Given the description of an element on the screen output the (x, y) to click on. 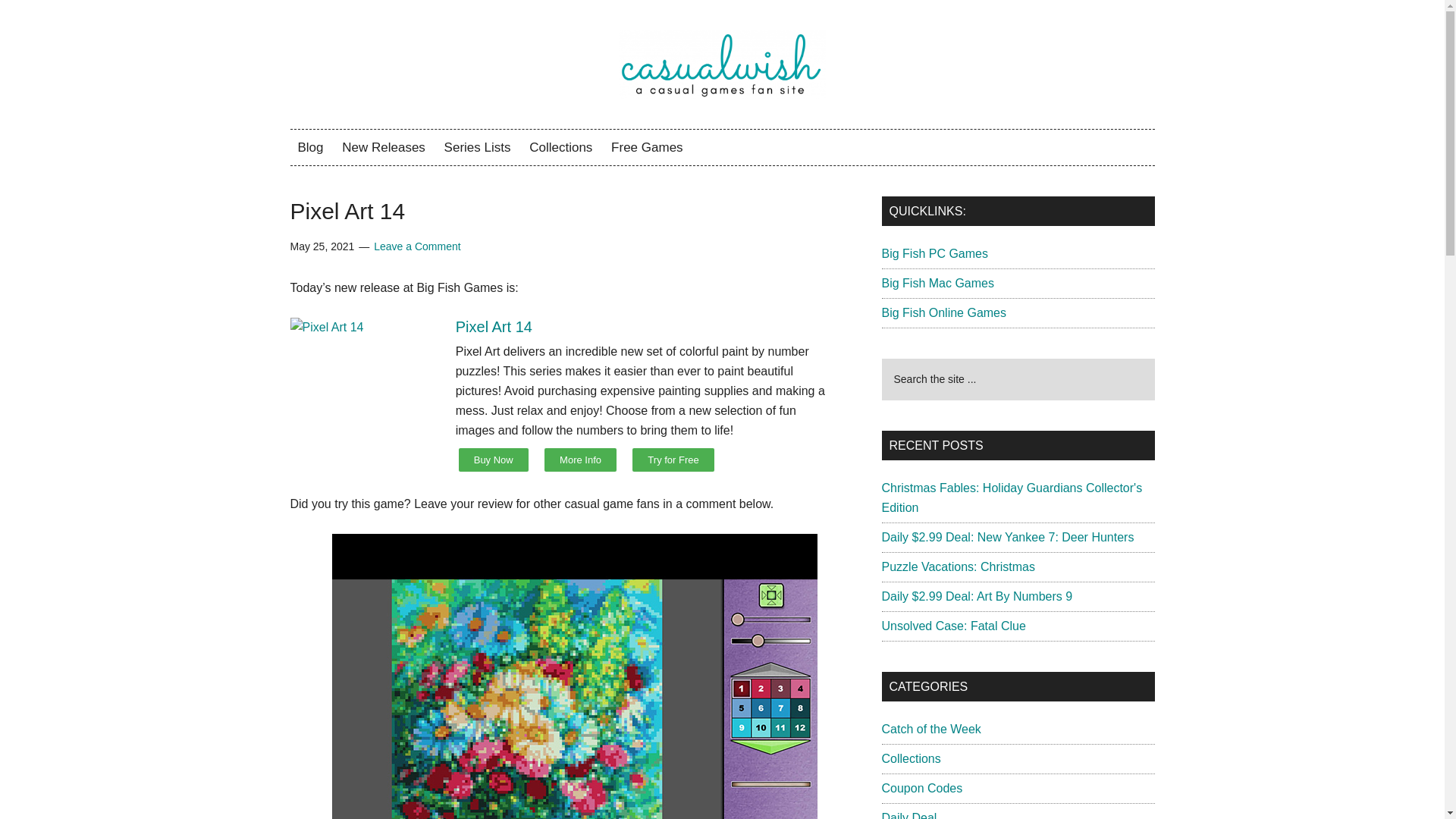
Blog (309, 147)
Big Fish PC Games (933, 253)
Collections (560, 147)
Buy Now (493, 459)
Try for Free (672, 459)
New Releases (383, 147)
Pixel Art 14 (493, 326)
Series Lists (477, 147)
Leave a Comment (417, 246)
Big Fish Mac Games (936, 282)
CasualWish (721, 64)
Puzzle Vacations: Christmas (956, 566)
